Given the description of an element on the screen output the (x, y) to click on. 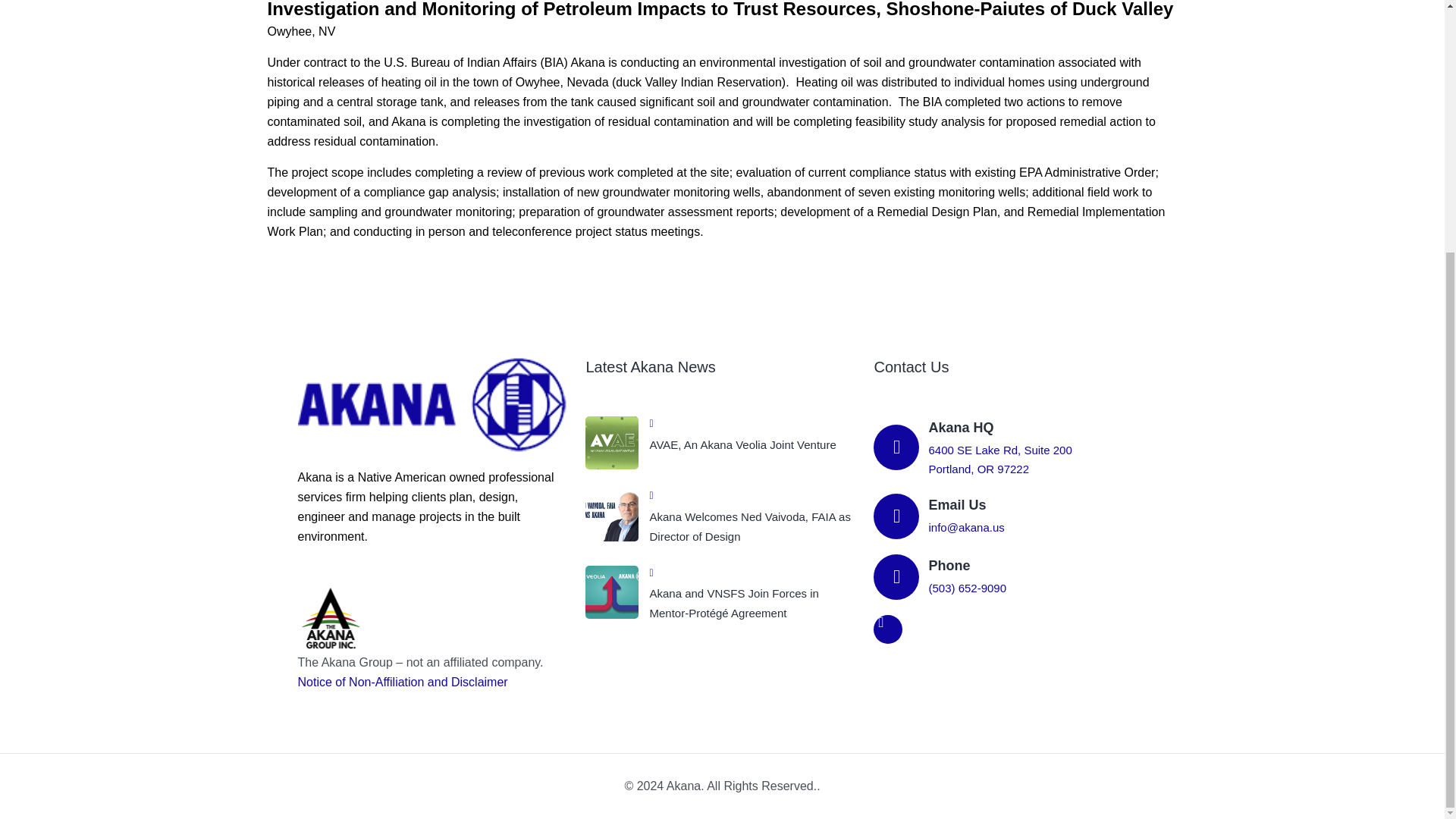
AVAE, An Akana Veolia Joint Venture (754, 444)
Notice of Non-Affiliation and Disclaimer (401, 681)
